Given the description of an element on the screen output the (x, y) to click on. 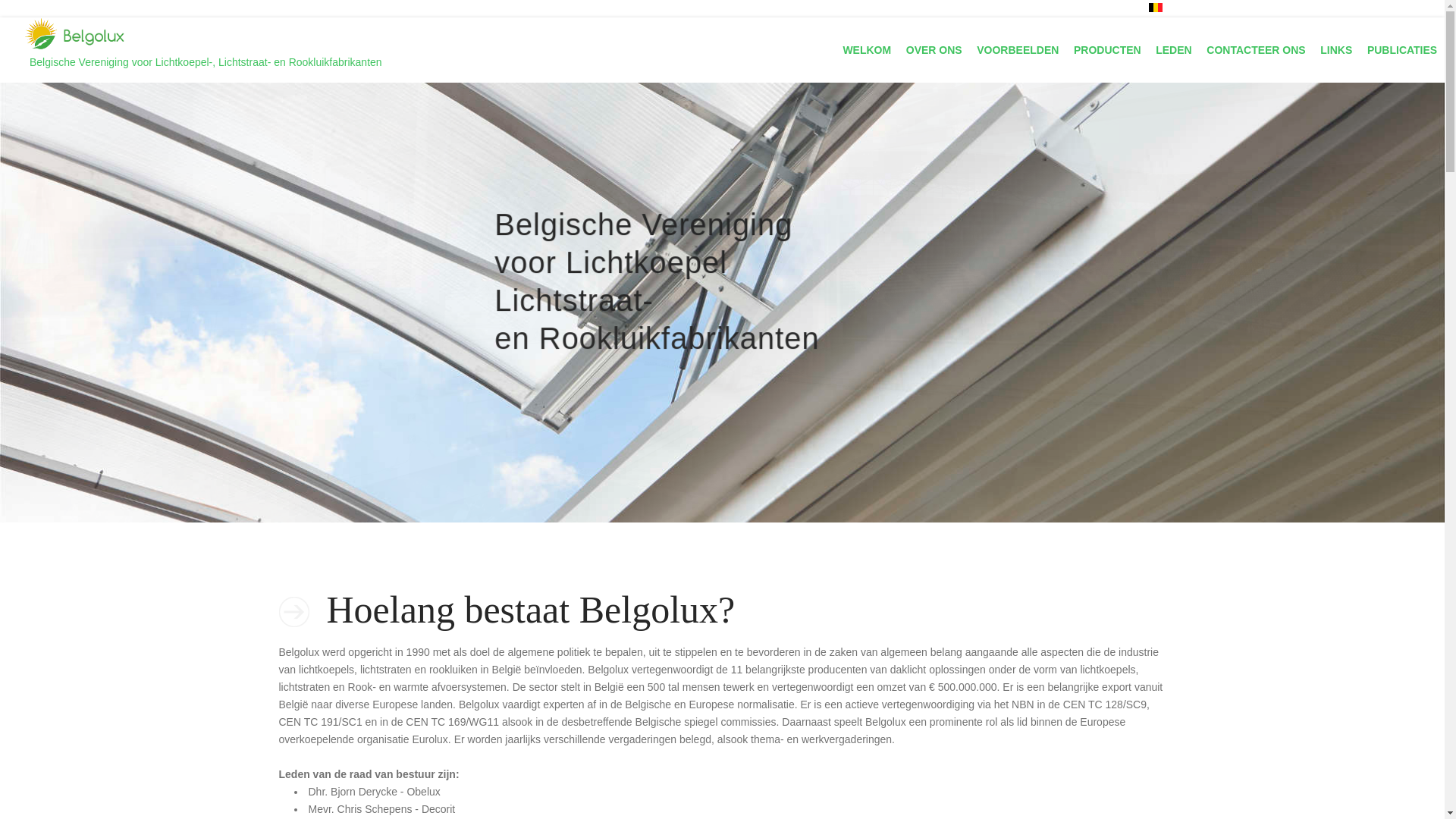
Nederlands Element type: hover (1154, 7)
VOORBEELDEN Element type: text (1017, 50)
PRODUCTEN Element type: text (1107, 50)
LINKS Element type: text (1336, 50)
CONTACTEER ONS Element type: text (1255, 50)
LEDEN Element type: text (1173, 50)
OVER ONS Element type: text (933, 50)
WELKOM Element type: text (866, 50)
PUBLICATIES Element type: text (1401, 50)
